Given the description of an element on the screen output the (x, y) to click on. 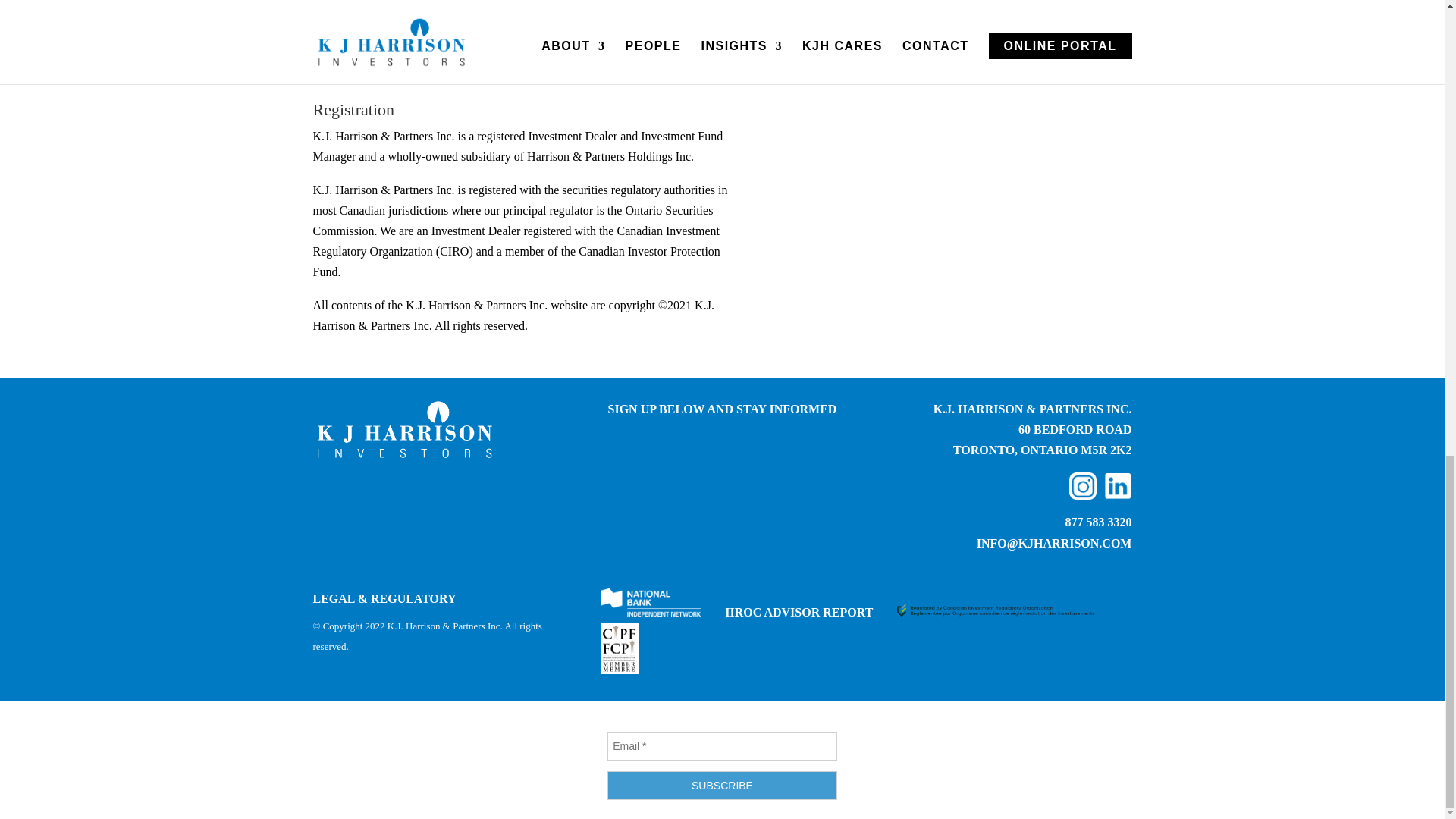
kjh-logo-white (404, 429)
SUBSCRIBE (722, 785)
IIROC ADVISOR REPORT (798, 612)
SUBSCRIBE (722, 785)
877 583 3320 (1097, 521)
